Given the description of an element on the screen output the (x, y) to click on. 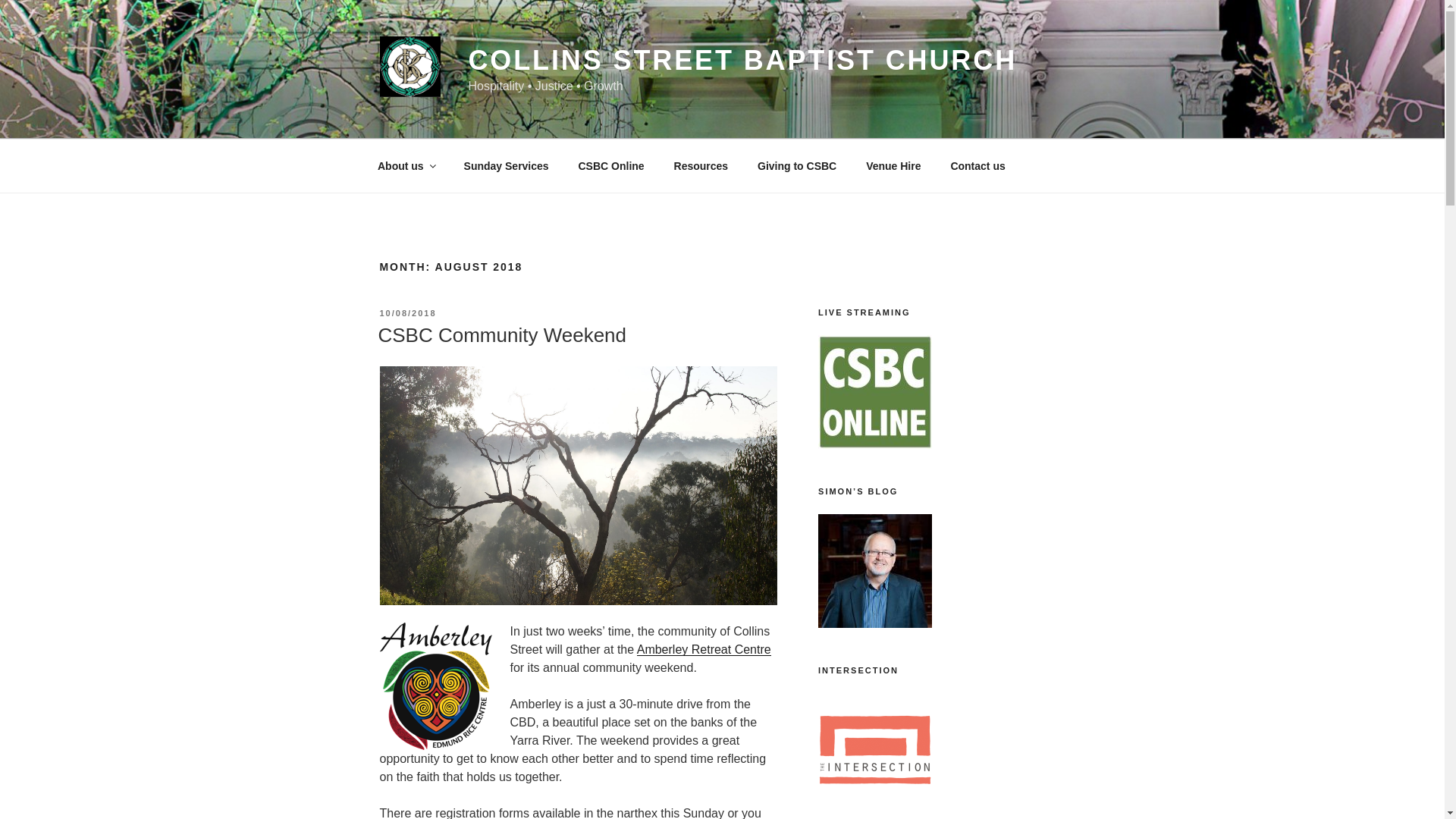
Venue Hire (893, 165)
Sunday Services (505, 165)
Contact us (977, 165)
CSBC Community Weekend (501, 334)
COLLINS STREET BAPTIST CHURCH (741, 60)
Resources (701, 165)
Giving to CSBC (797, 165)
About us (405, 165)
CSBC Online (611, 165)
Amberley Retreat Centre (704, 649)
